Given the description of an element on the screen output the (x, y) to click on. 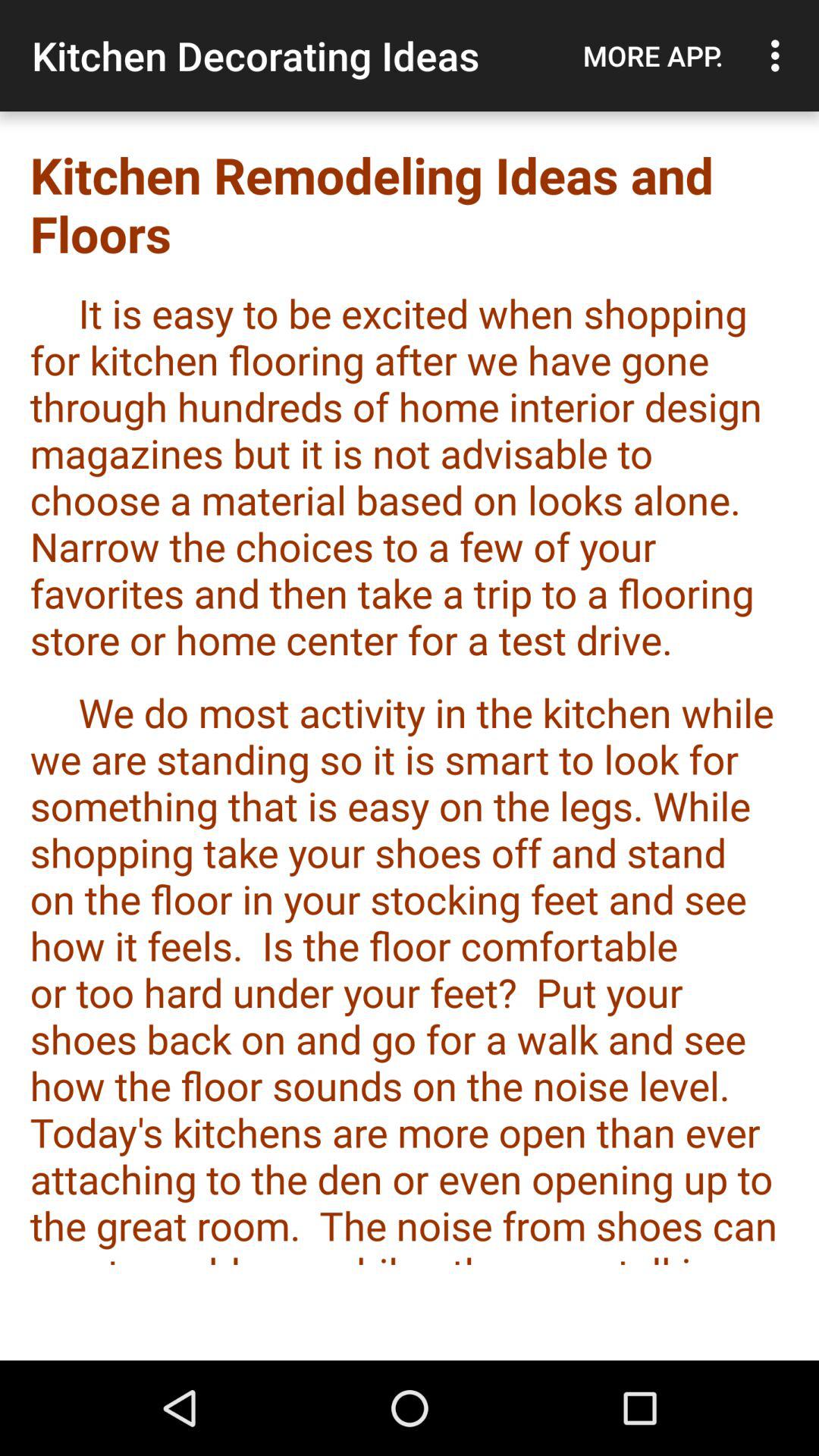
tap item to the right of the kitchen decorating ideas item (653, 55)
